Given the description of an element on the screen output the (x, y) to click on. 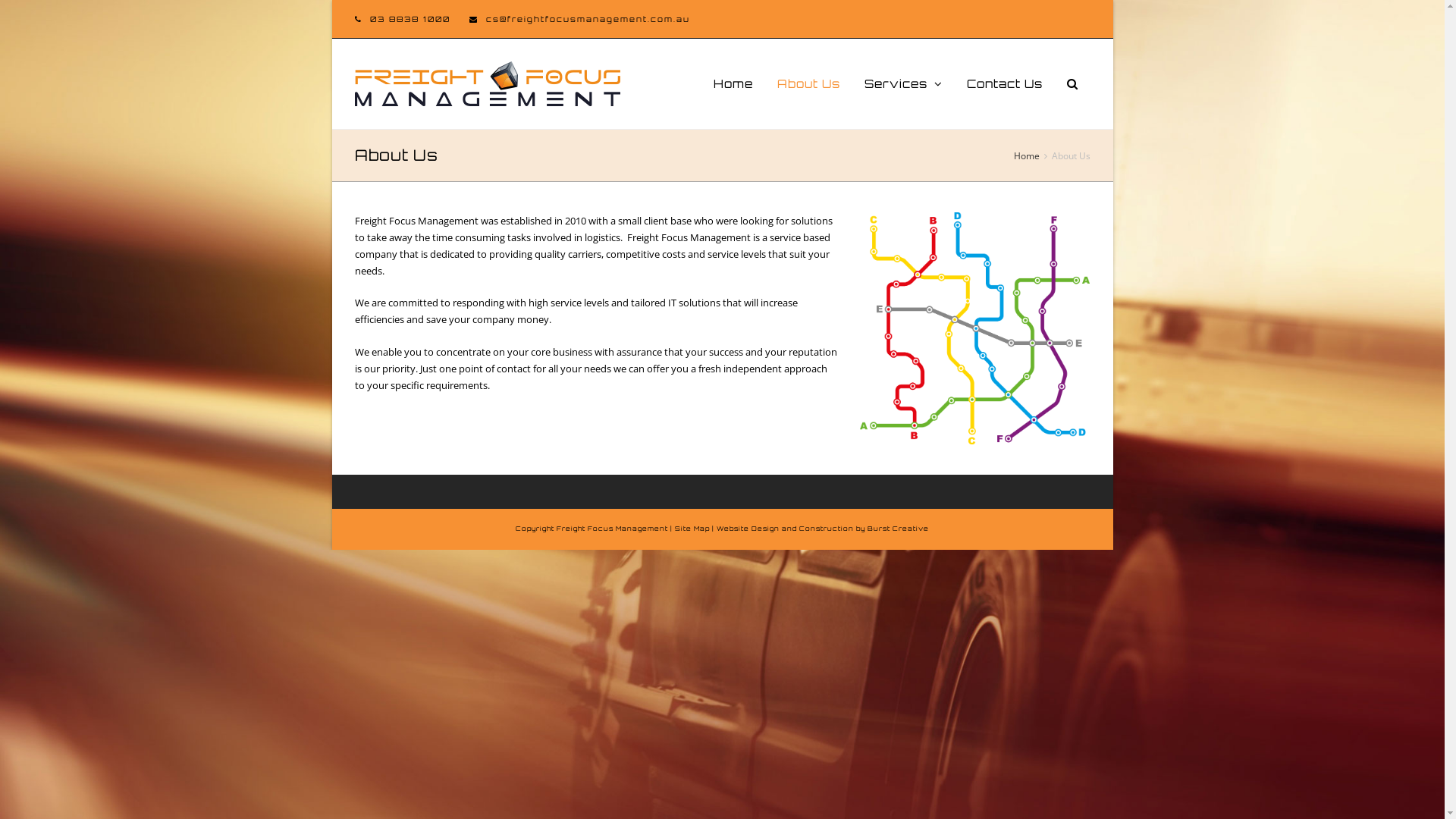
About Us Element type: text (807, 84)
cs@freightfocusmanagement.com.au Element type: text (587, 18)
Home Element type: text (1025, 155)
Site Map Element type: text (691, 528)
Contact Us Element type: text (1003, 84)
Home Element type: text (732, 84)
Website Design and Construction by Burst Creative Element type: text (822, 528)
Freight Focus Management Element type: text (612, 528)
Freight Focus Management Element type: hover (487, 81)
| Element type: text (712, 528)
Services Element type: text (903, 84)
